Given the description of an element on the screen output the (x, y) to click on. 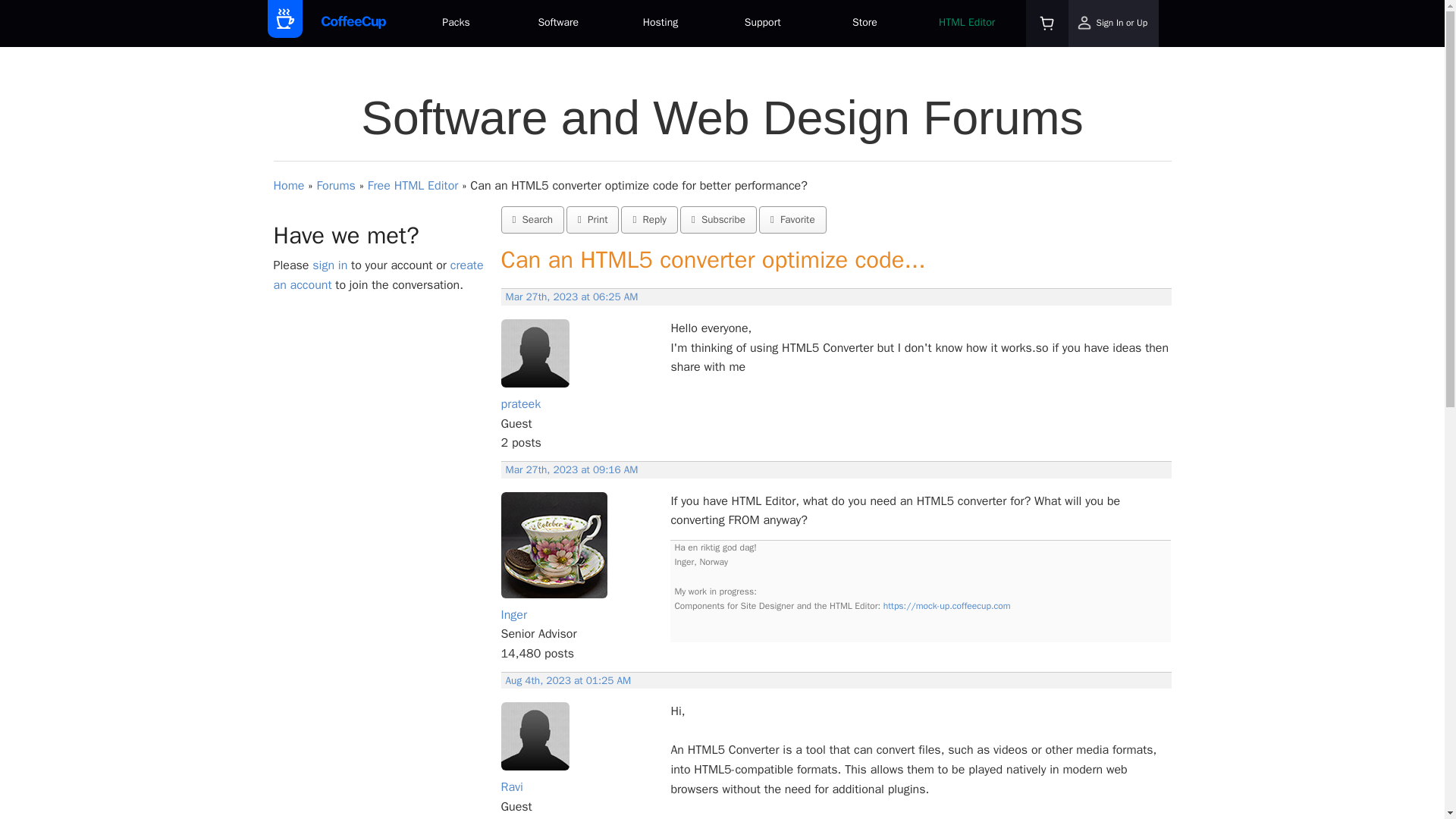
Store (864, 23)
Packs (455, 23)
Software (558, 23)
Everything you need for success on the web. (455, 23)
Hosting (660, 23)
Support (762, 23)
Web design can be surprisingly simple. (558, 23)
CoffeeCup Home (353, 23)
